Given the description of an element on the screen output the (x, y) to click on. 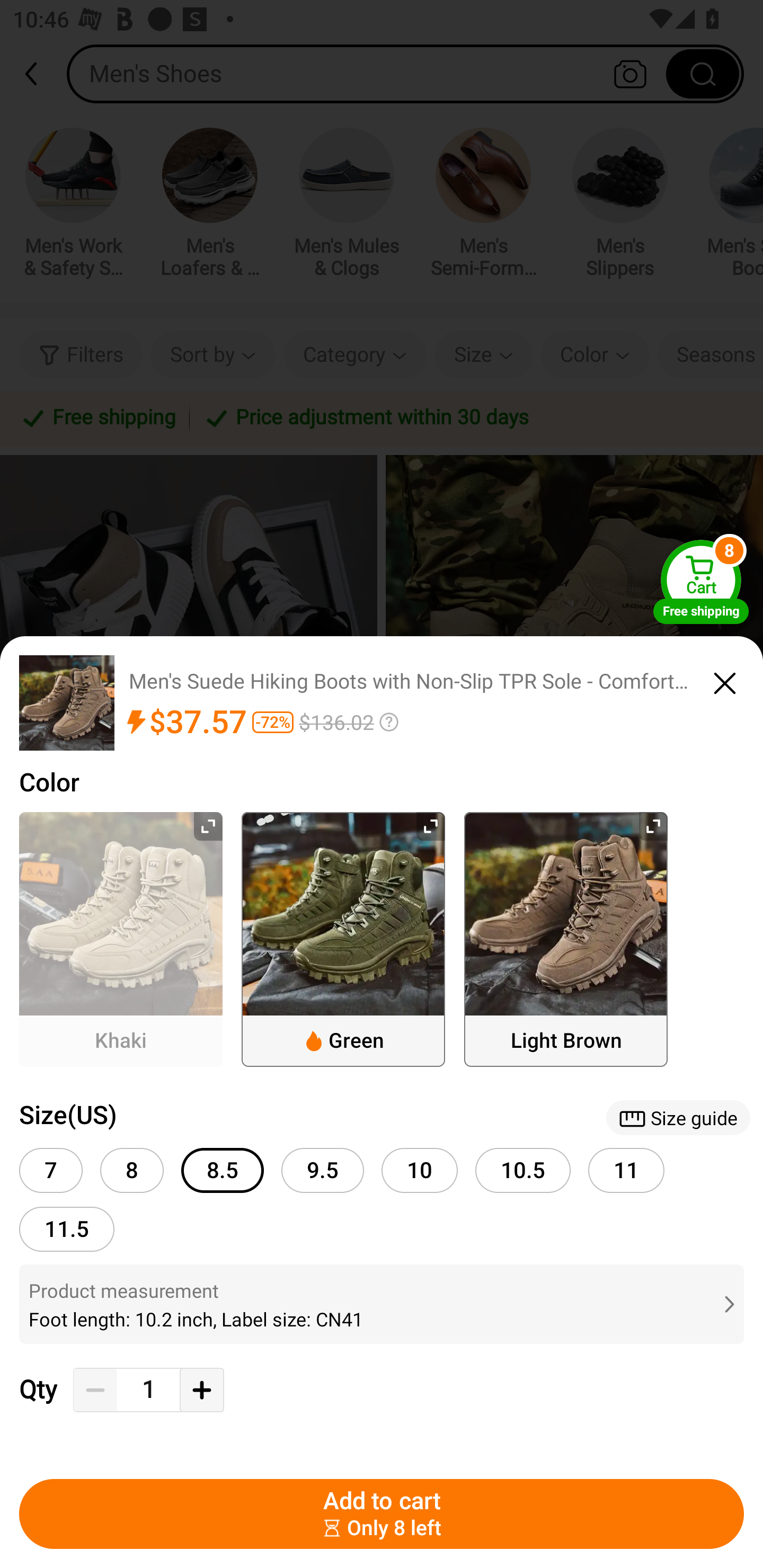
Cart Free shipping Cart (701, 581)
close (724, 680)
Khaki (120, 939)
Green ￼Green (342, 939)
Light Brown (565, 939)
￼Size guide (677, 1117)
 7 (50, 1170)
 8 (131, 1170)
 8.5 (222, 1170)
 9.5 (322, 1170)
 10 (419, 1170)
 10.5 (522, 1170)
 11 (626, 1170)
 11.5 (66, 1229)
Decrease Quantity Button (95, 1389)
Add Quantity Button (201, 1389)
1 (148, 1389)
Add to cart ￼￼Only 8 left (381, 1513)
